Given the description of an element on the screen output the (x, y) to click on. 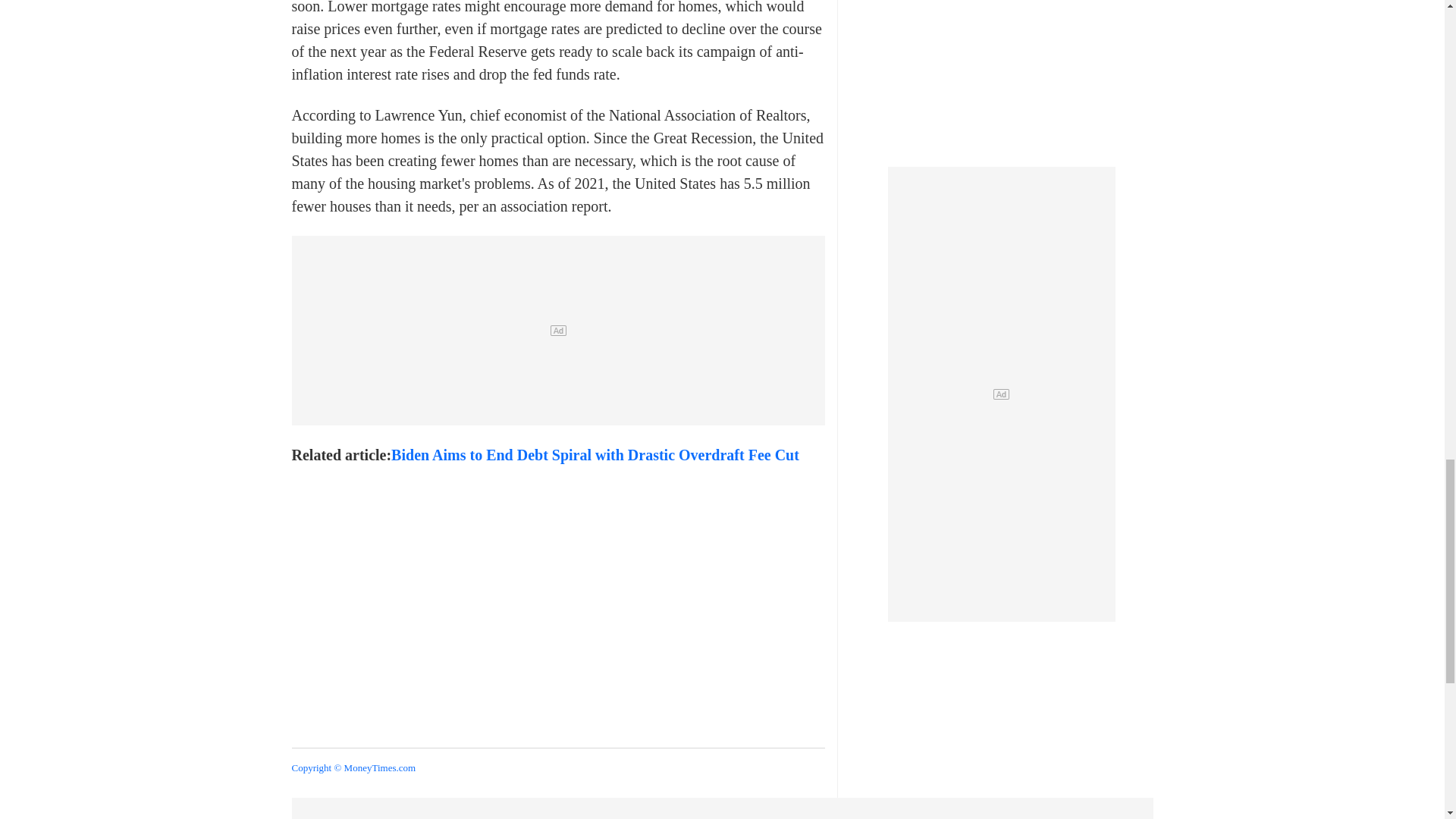
Biden Aims to End Debt Spiral with Drastic Overdraft Fee Cut (595, 454)
